Given the description of an element on the screen output the (x, y) to click on. 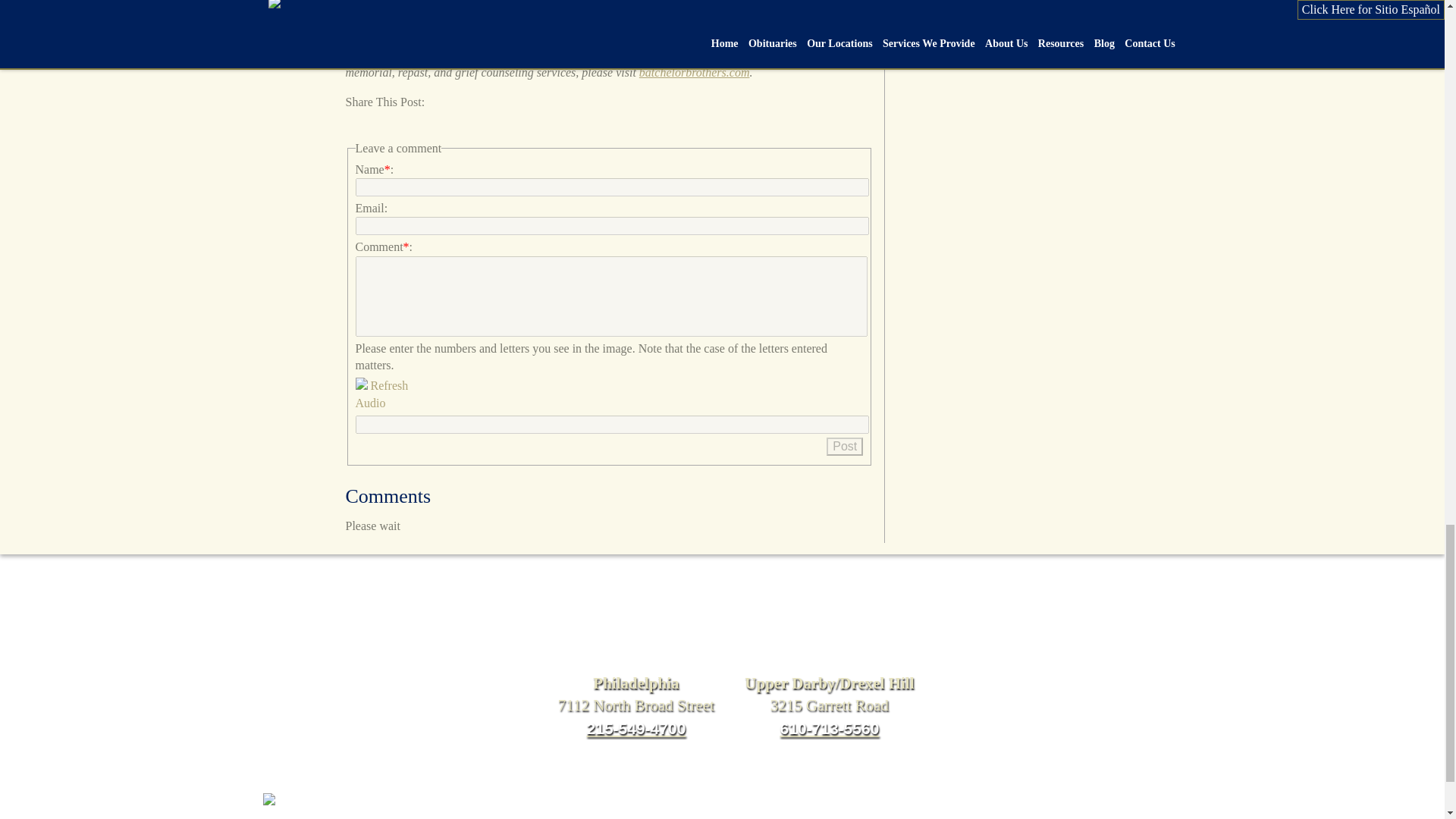
Twitter (384, 122)
batchelorbrothers.com (694, 72)
Post (845, 446)
Facebook (357, 122)
